Given the description of an element on the screen output the (x, y) to click on. 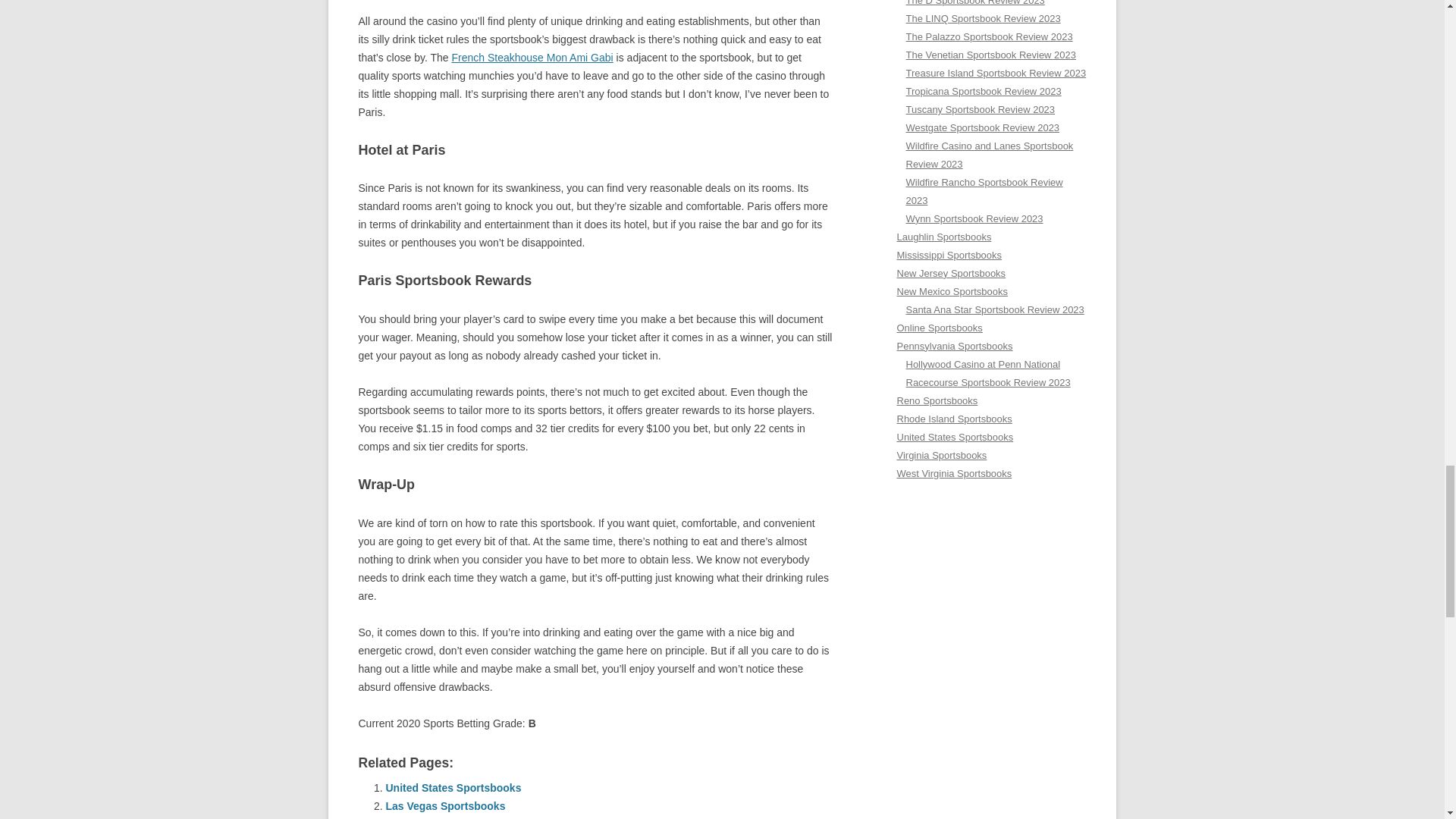
Las Vegas Sportsbooks (445, 806)
French Steakhouse Mon Ami Gabi (531, 57)
United States Sportsbooks (453, 787)
Las Vegas Sportsbooks (445, 806)
United States Sportsbooks (453, 787)
